Given the description of an element on the screen output the (x, y) to click on. 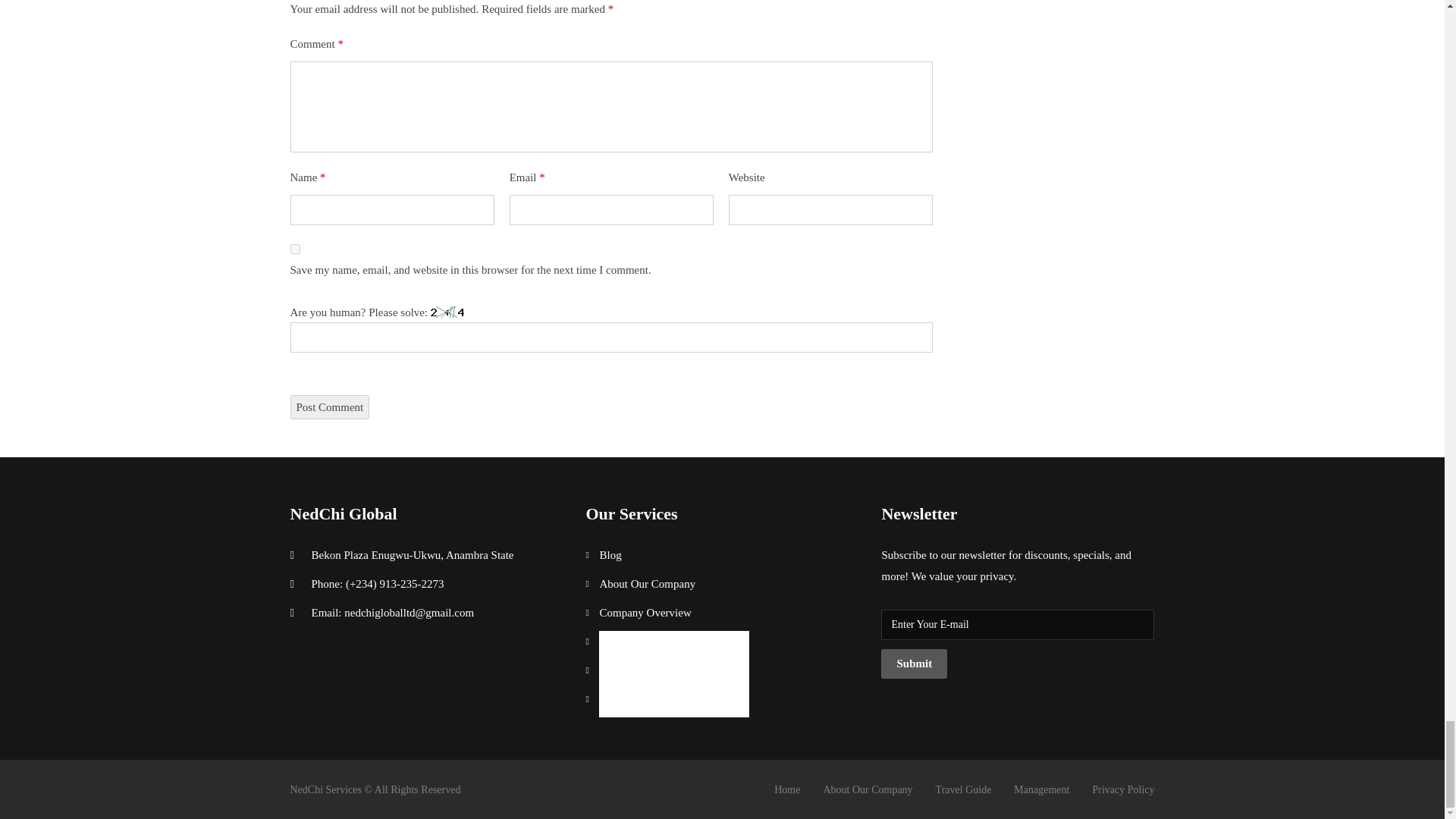
yes (294, 248)
Post Comment (329, 406)
Enter Your E-mail (1017, 624)
